Given the description of an element on the screen output the (x, y) to click on. 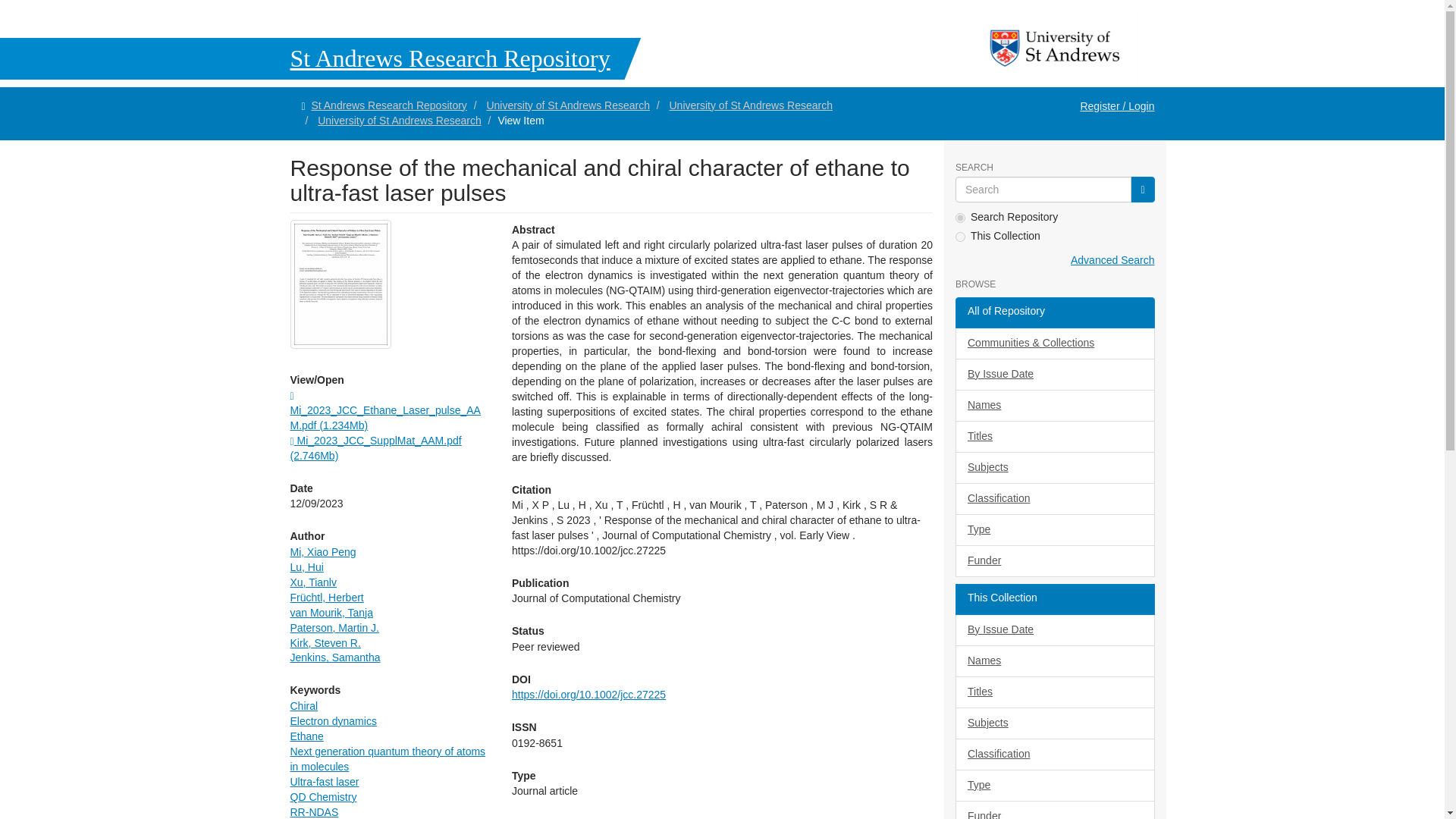
Ethane (306, 736)
RR-NDAS (313, 811)
Chiral (303, 705)
University of St Andrews Research (399, 120)
Paterson, Martin J. (333, 627)
Mi, Xiao Peng (322, 551)
Jenkins, Samantha (334, 657)
St Andrews Research Repository (388, 105)
Go (1142, 189)
Ultra-fast laser (323, 781)
